Given the description of an element on the screen output the (x, y) to click on. 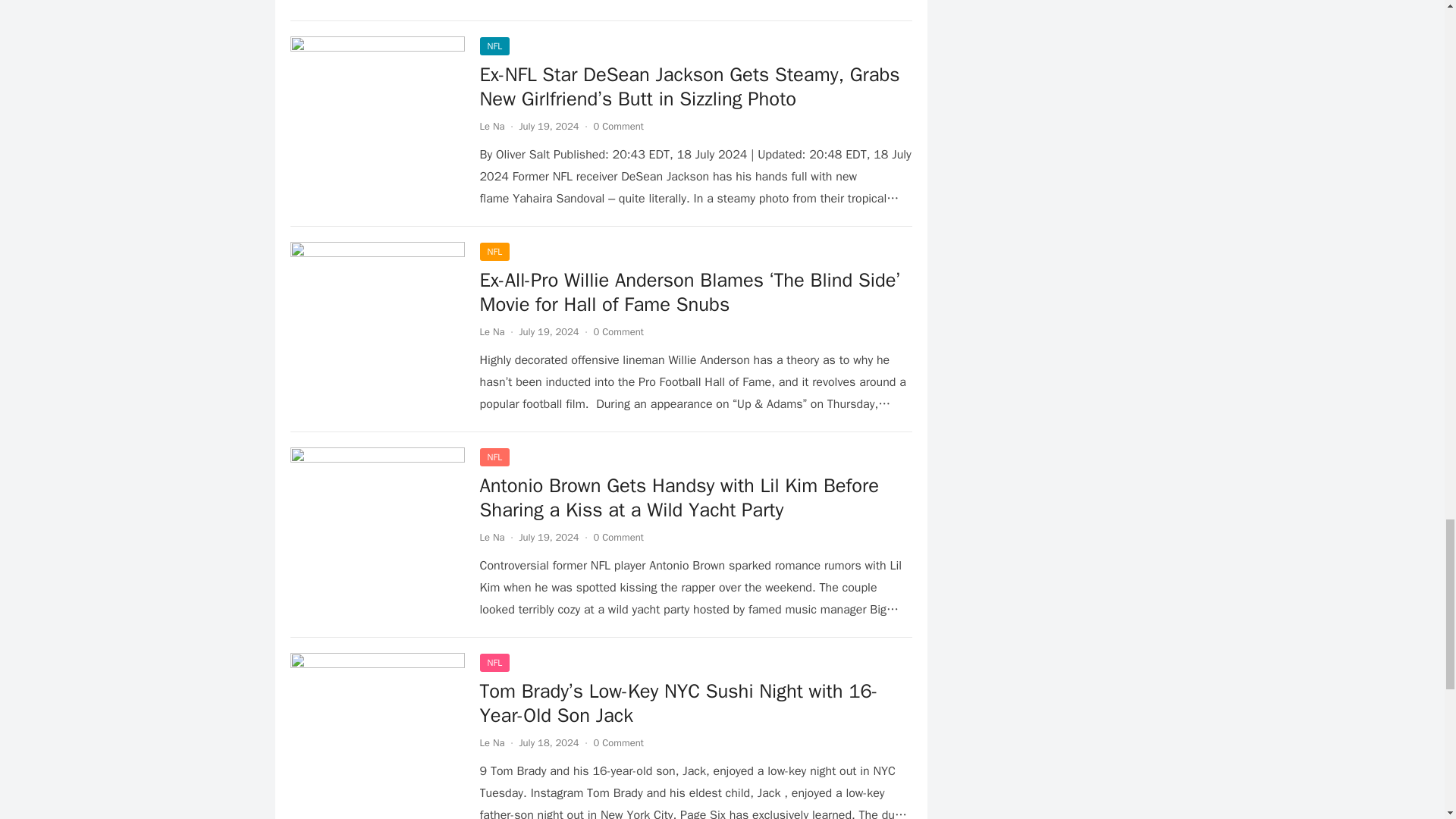
NFL (494, 45)
Posts by Le Na (491, 331)
Posts by Le Na (491, 742)
Posts by Le Na (491, 125)
Posts by Le Na (491, 536)
